Given the description of an element on the screen output the (x, y) to click on. 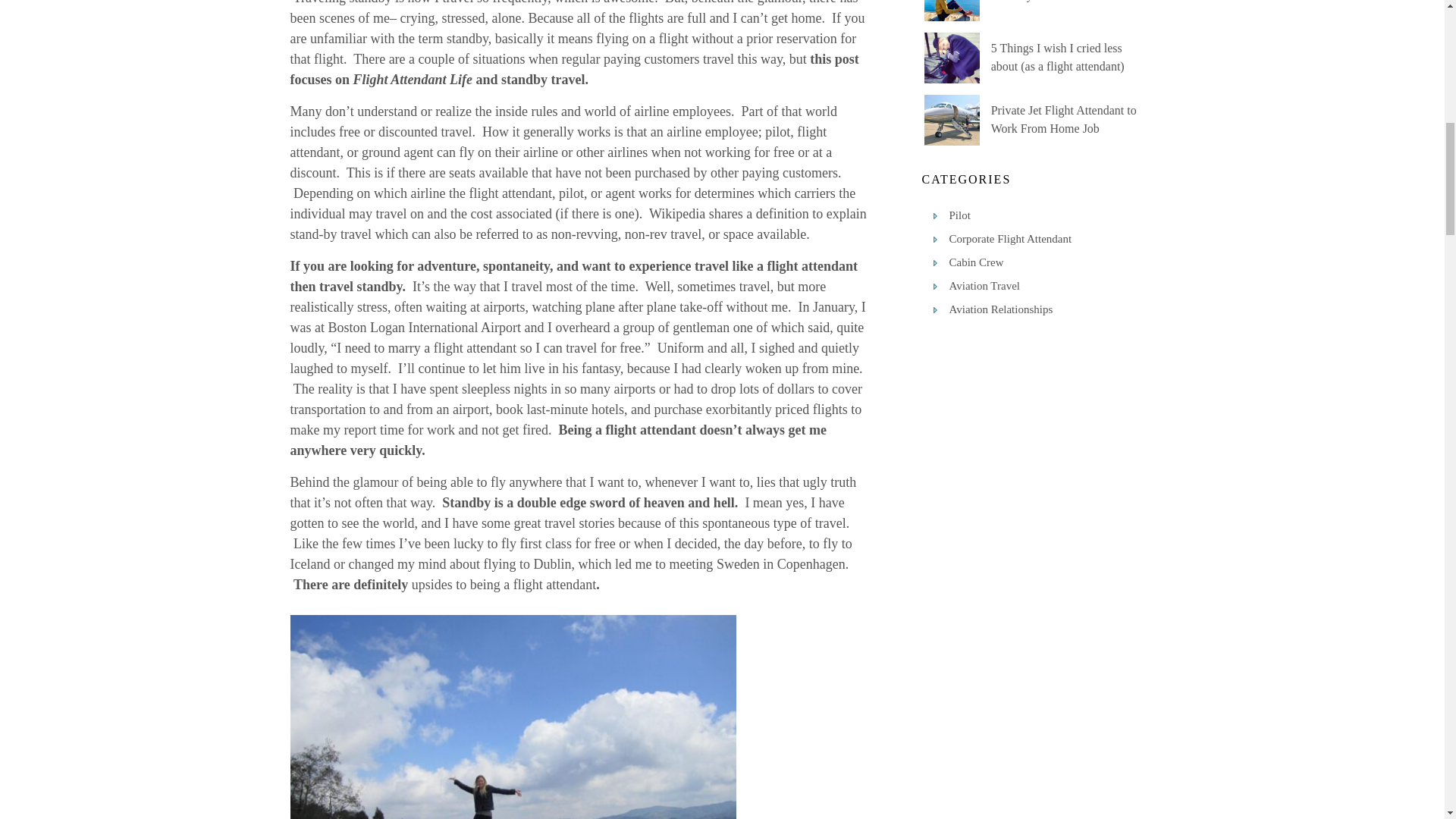
how I travel so frequently (477, 2)
upsides to being a flight attendant (503, 584)
I have gotten to see the world (566, 512)
Behind the glamour (343, 482)
Why Be A Flight Attendant (566, 512)
I have some great travel stories (529, 522)
Sweden in Copenhagen (780, 563)
Wikipedia shares a definition to explain stand-by travel (577, 223)
Escapades in Europe:  I Like To Sleep In Lockers. (529, 522)
In January, I was at Boston Logan International Airport (576, 316)
Flight Attendant Problems (343, 482)
to fly to Iceland (570, 553)
Private Jet Flight Attendant to Work From Home Job (1064, 119)
Artificial Brothers Copenhagen (780, 563)
Why Iceland? (570, 553)
